Given the description of an element on the screen output the (x, y) to click on. 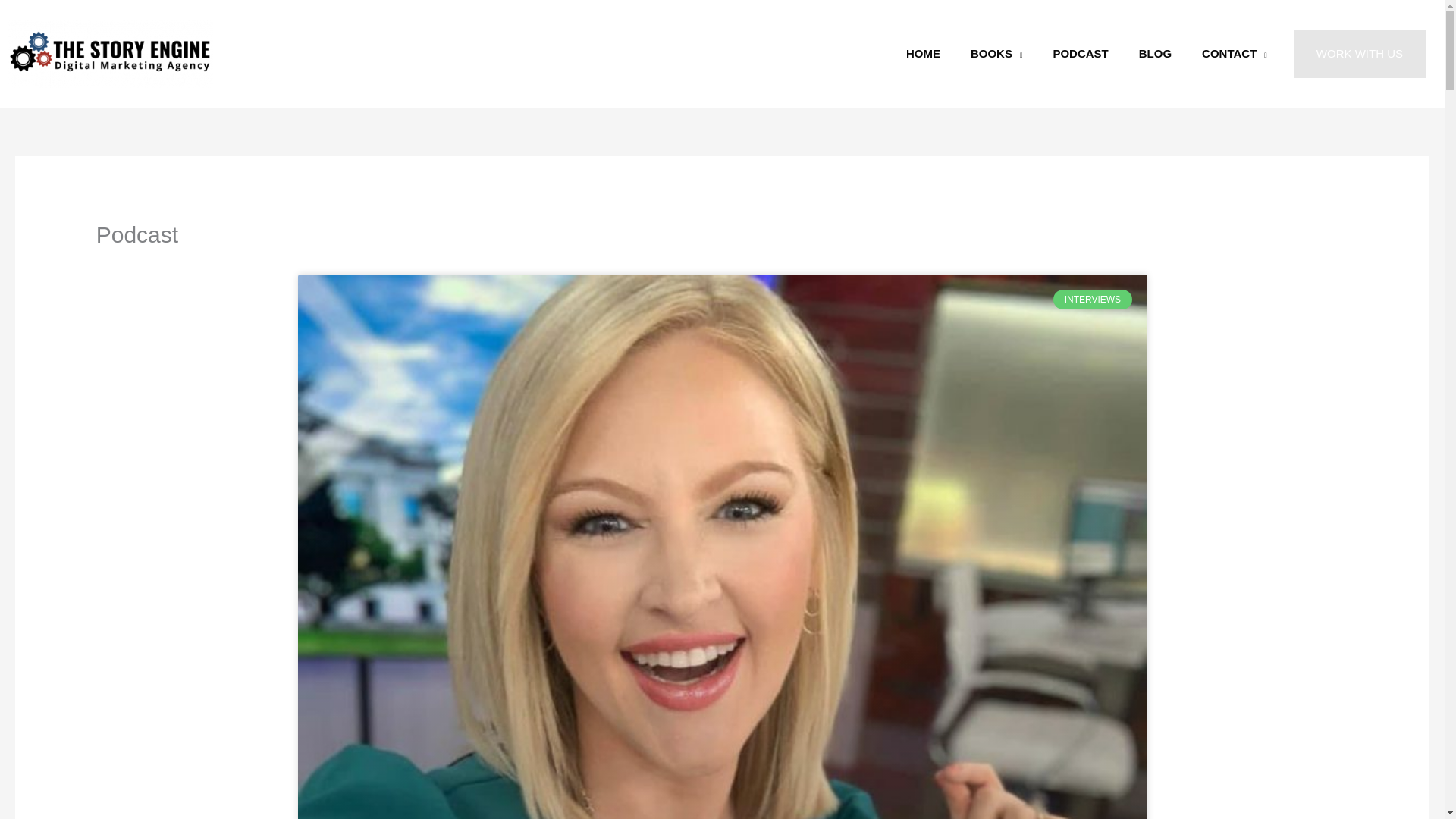
BLOG (1155, 53)
PODCAST (1079, 53)
CONTACT (1234, 53)
WORK WITH US (1359, 53)
BOOKS (996, 53)
HOME (923, 53)
